Given the description of an element on the screen output the (x, y) to click on. 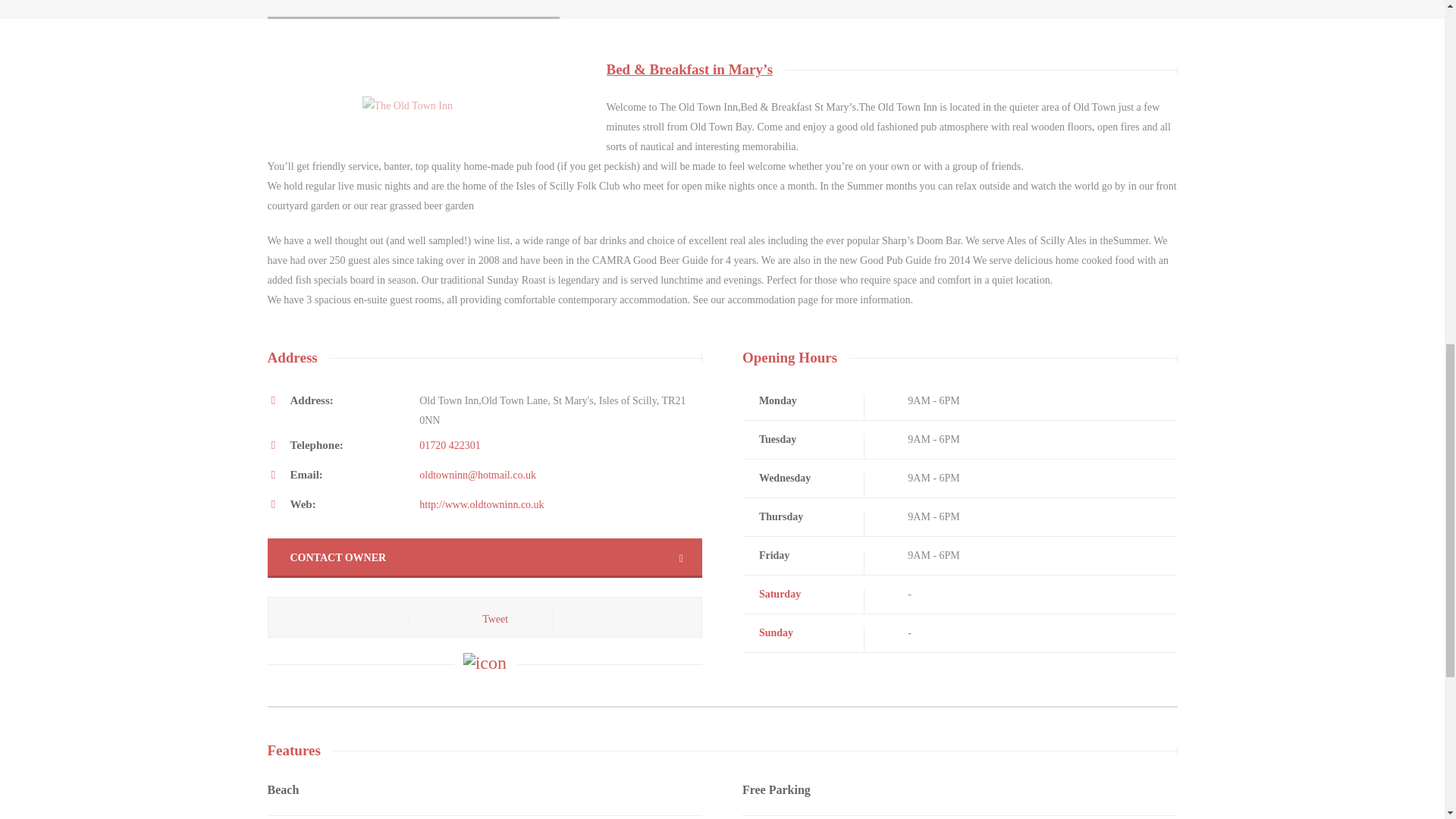
01720 422301 (449, 445)
CONTACT OWNER (483, 558)
The Old Town Inn (411, 113)
Tweet (494, 618)
